Given the description of an element on the screen output the (x, y) to click on. 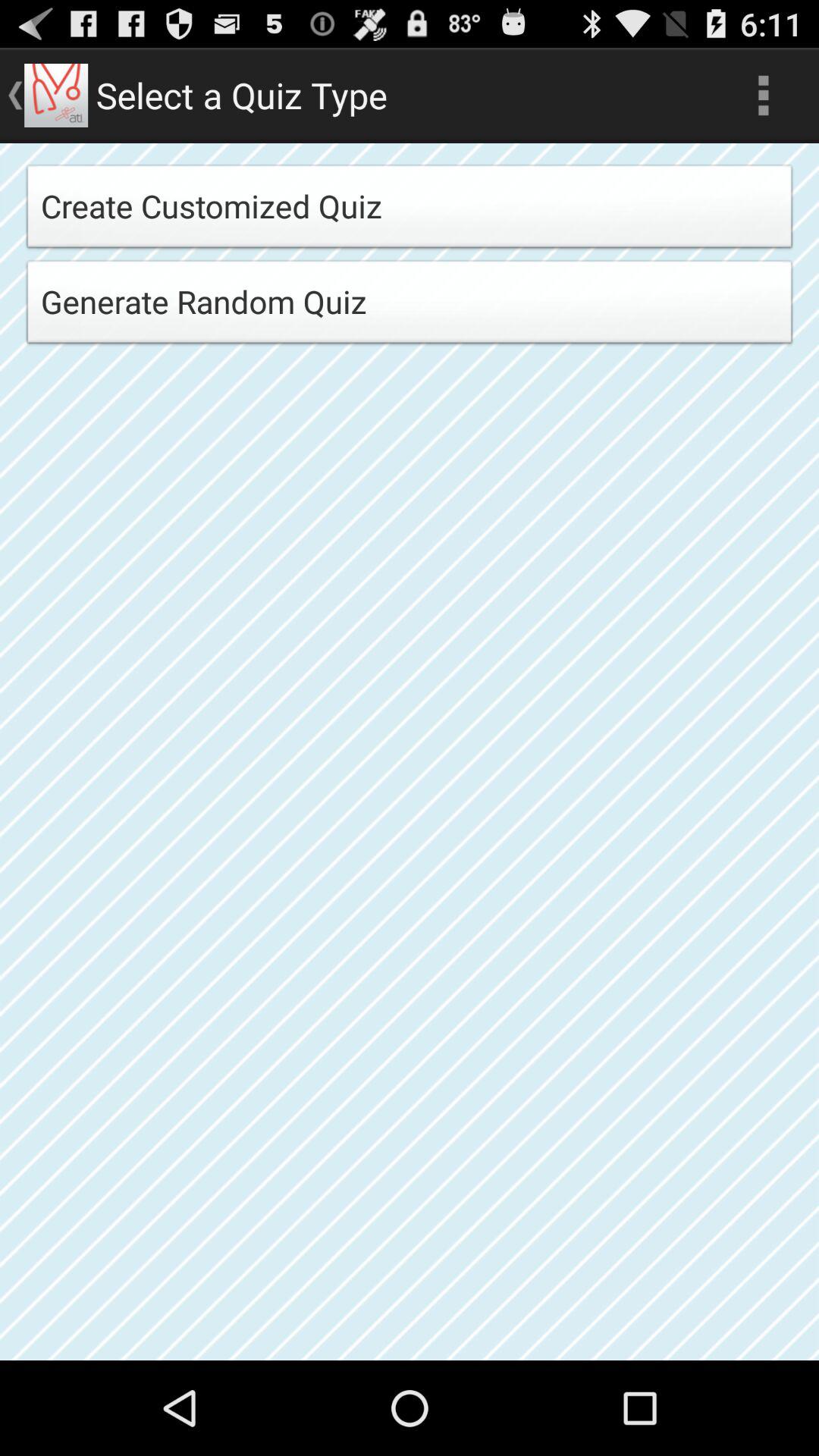
choose the icon above the generate random quiz item (409, 210)
